Given the description of an element on the screen output the (x, y) to click on. 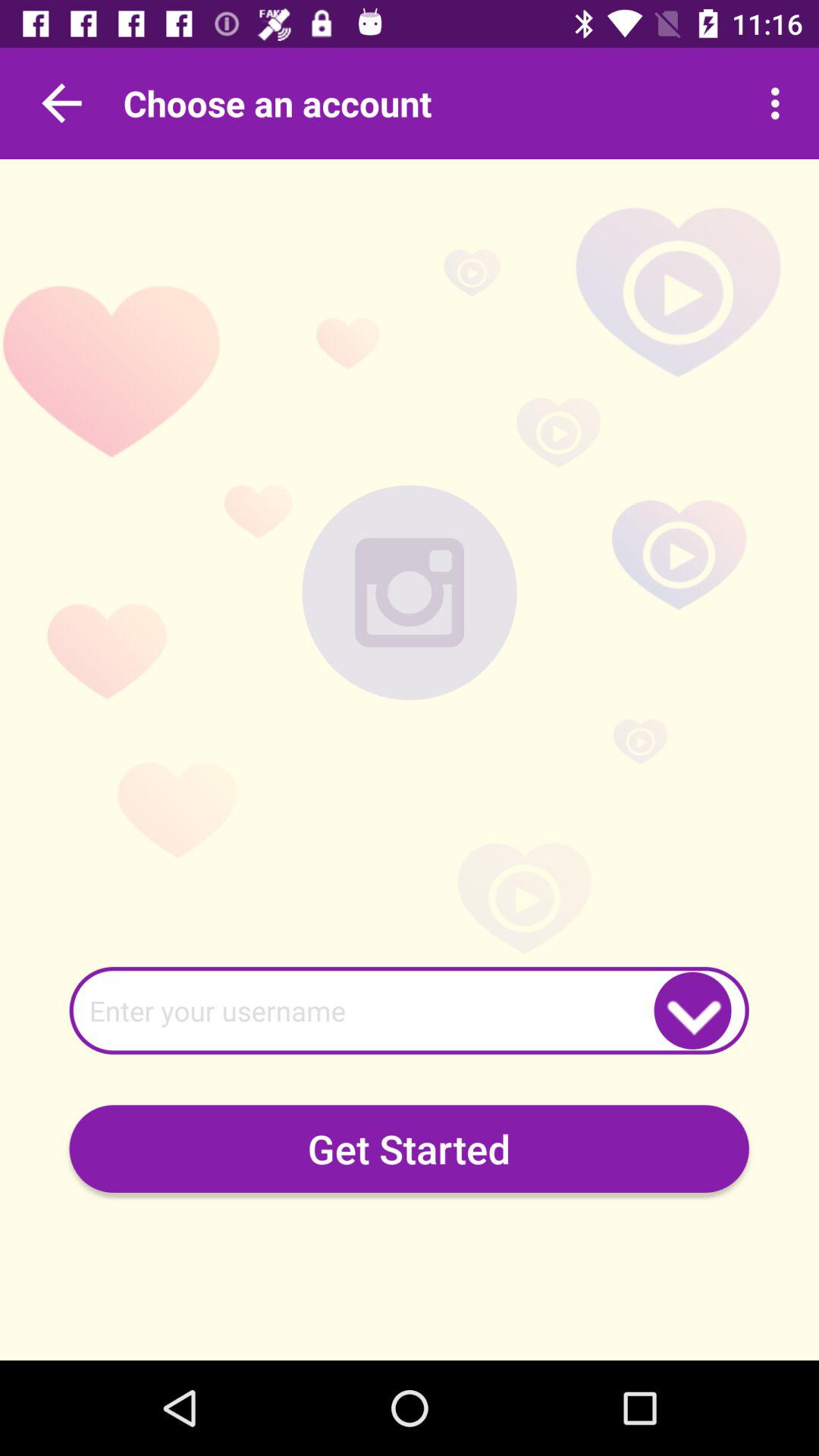
add picture (409, 592)
